Given the description of an element on the screen output the (x, y) to click on. 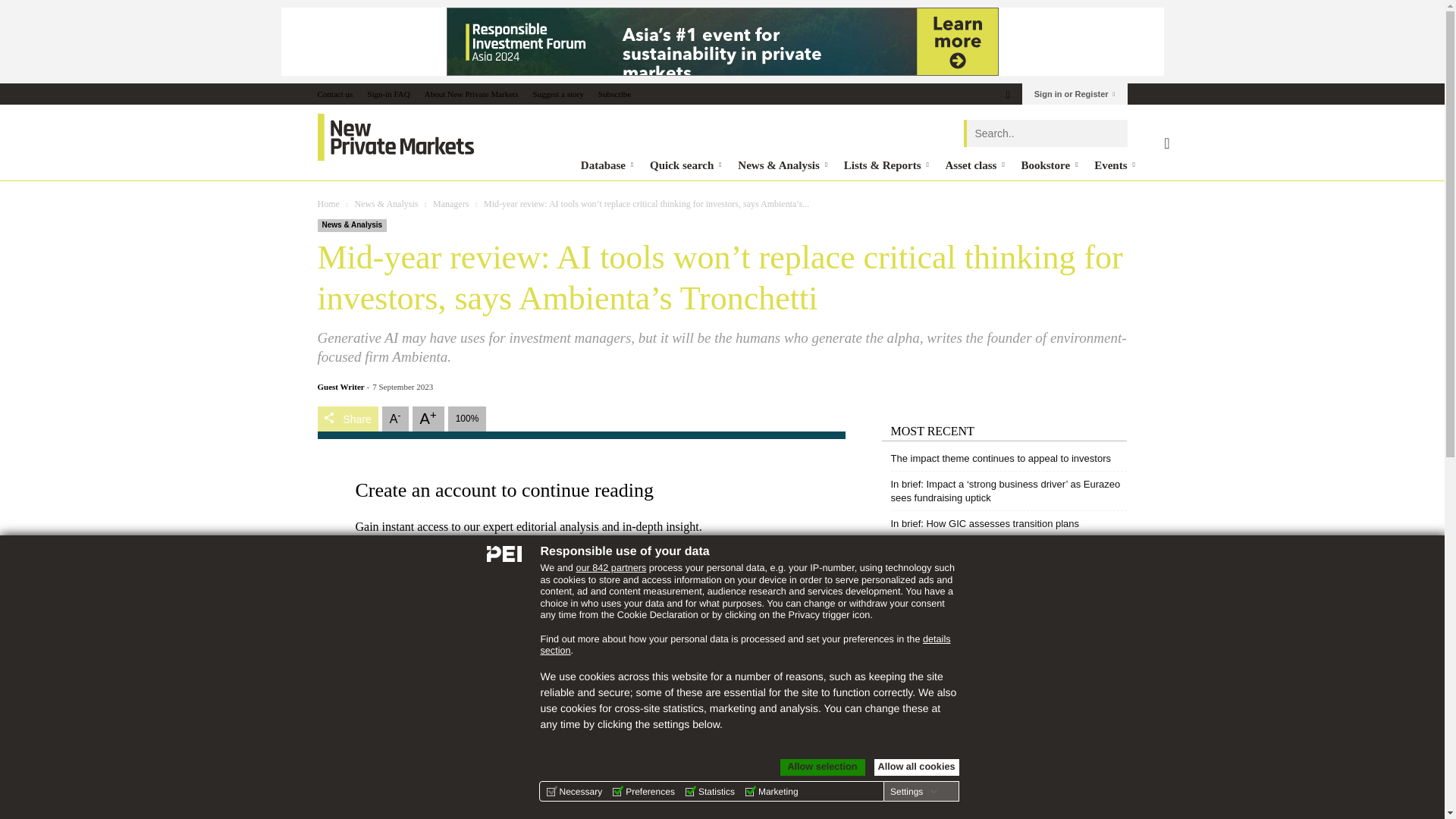
Allow selection (821, 767)
Settings (913, 791)
our 842 partners (610, 567)
details section (745, 644)
Allow all cookies (915, 767)
